Given the description of an element on the screen output the (x, y) to click on. 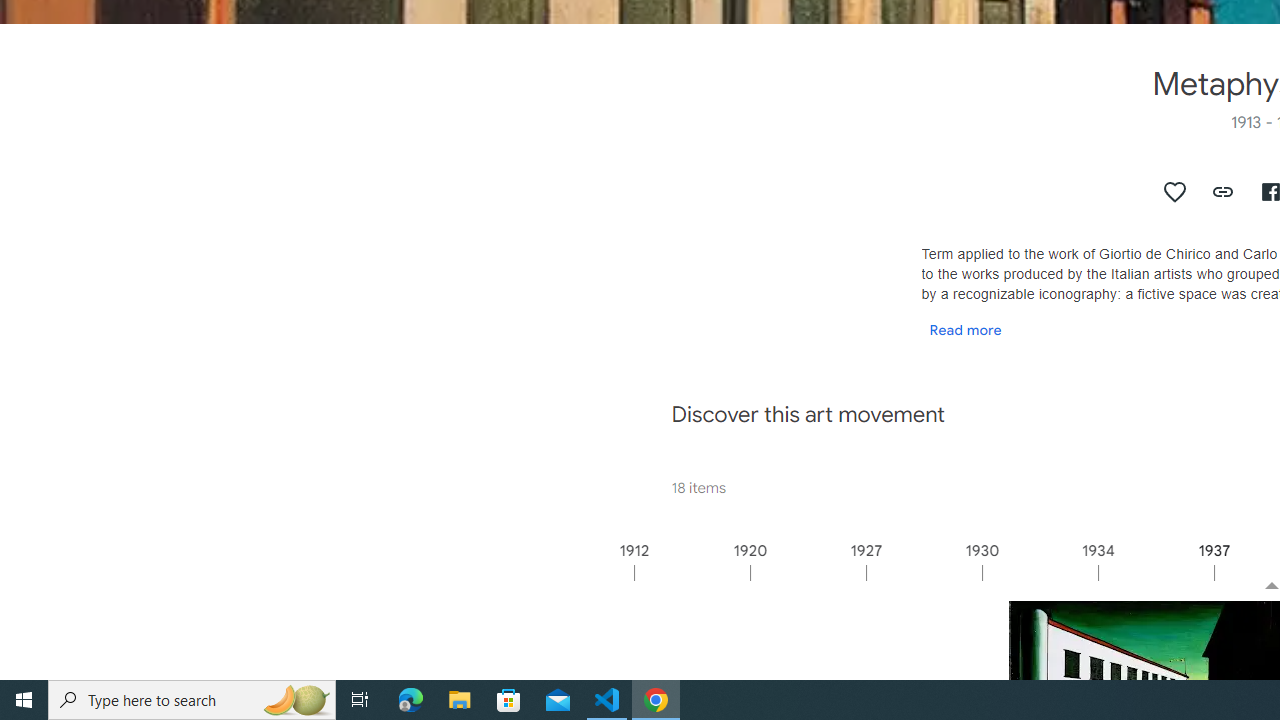
1912 (691, 572)
Authenticate to favorite this asset. (1175, 191)
Read more (965, 329)
1927 (923, 572)
1930 (1039, 572)
1934 (1154, 572)
Copy Link (1223, 191)
1920 (807, 572)
